Given the description of an element on the screen output the (x, y) to click on. 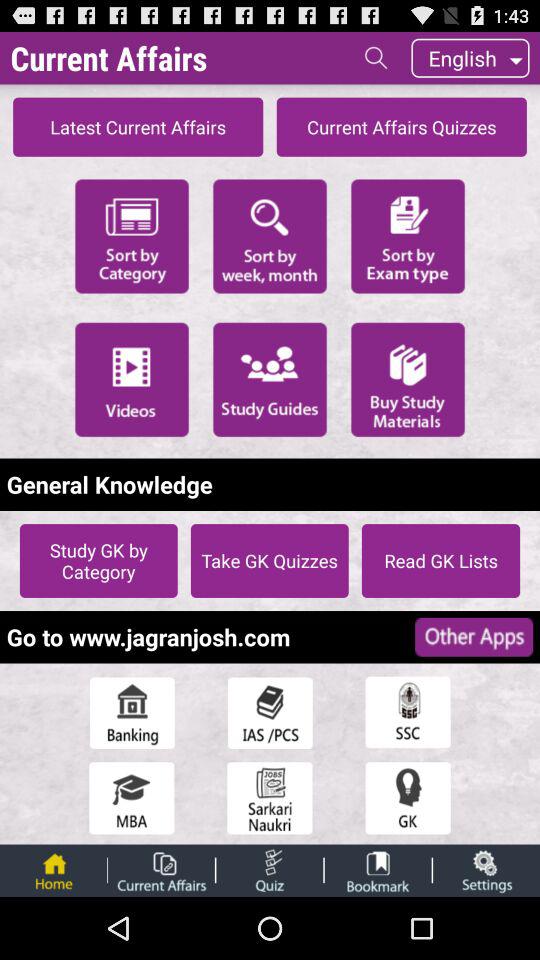
sarkari naukri button (269, 798)
